Given the description of an element on the screen output the (x, y) to click on. 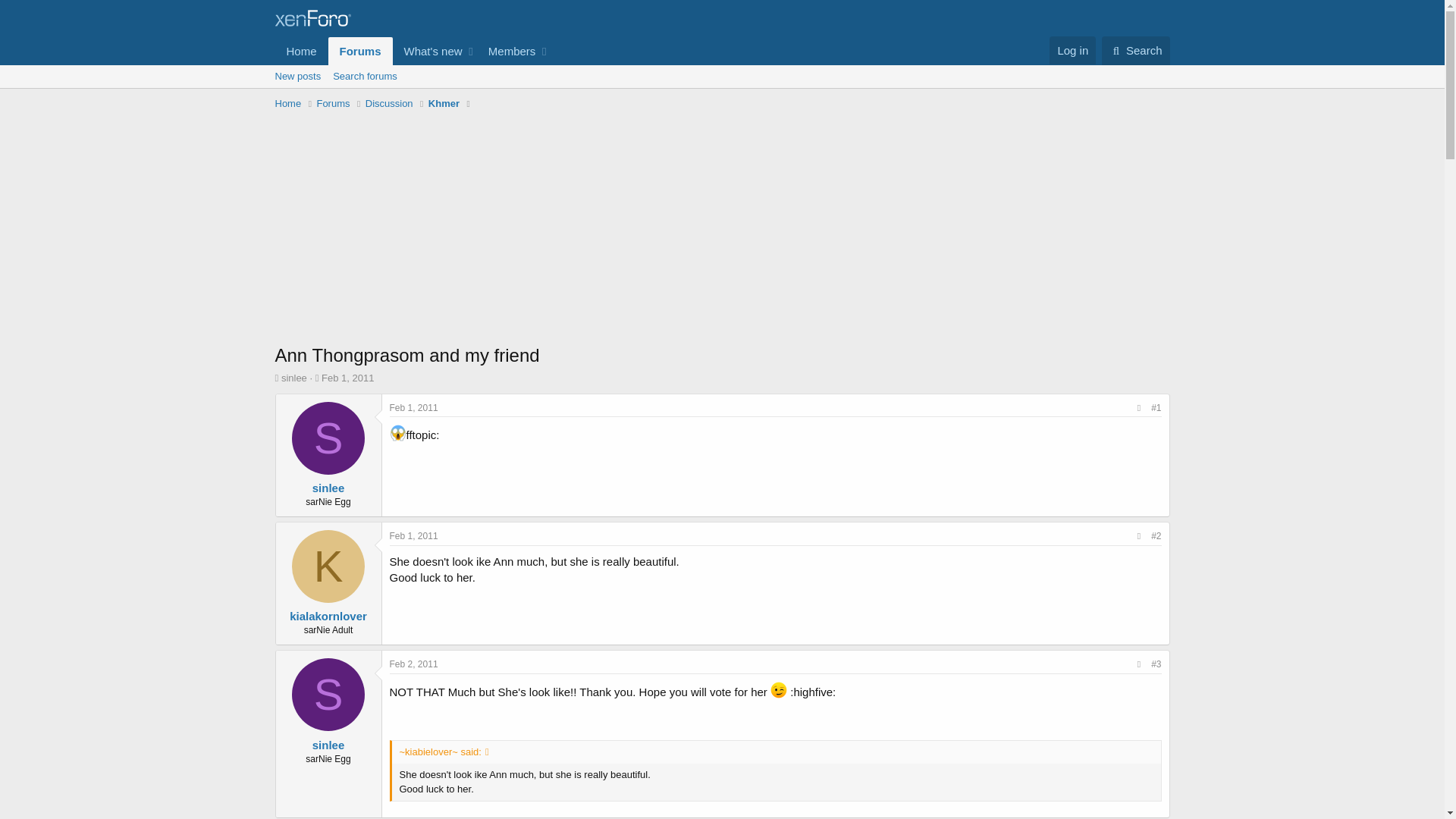
kialakornlover (327, 615)
Home (288, 103)
K (328, 565)
Search (1136, 50)
sinlee (411, 50)
Feb 1, 2011 (329, 487)
Feb 1, 2011 at 4:08 PM (347, 378)
Feb 1, 2011 (414, 407)
New posts (414, 407)
Feb 1, 2011 at 8:38 PM (296, 76)
Eek!    :eek: (414, 535)
Home (398, 433)
Forums (301, 50)
What's new (361, 50)
